Given the description of an element on the screen output the (x, y) to click on. 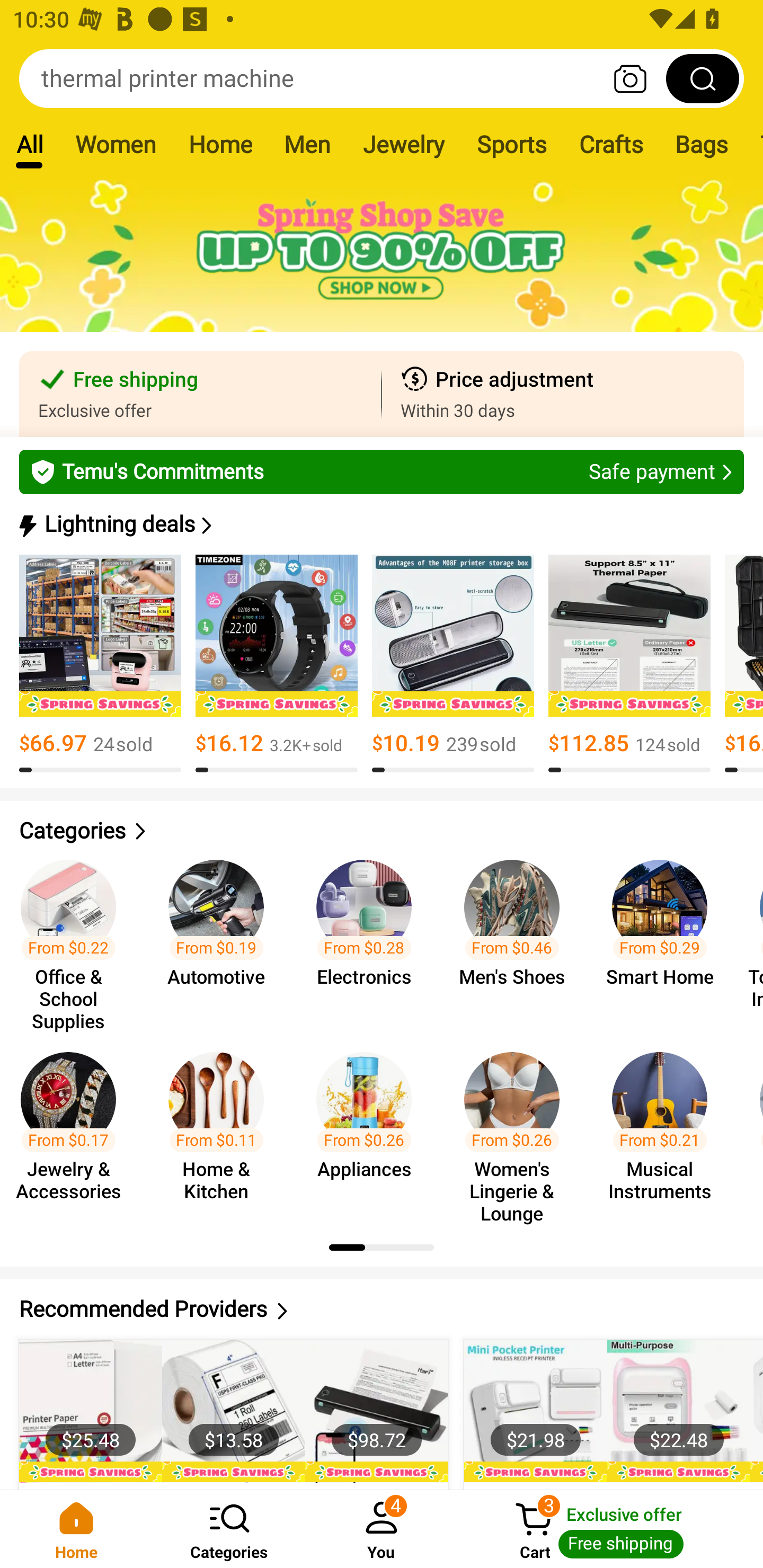
thermal printer machine (381, 78)
All (29, 144)
Women (115, 144)
Home (219, 144)
Men (306, 144)
Jewelry (403, 144)
Sports (511, 144)
Crafts (611, 144)
Bags (701, 144)
Free shipping Exclusive offer (200, 394)
Price adjustment Within 30 days (562, 394)
Temu's Commitments (381, 471)
Lightning deals (379, 524)
$66.97 24￼sold 8.0 (100, 664)
$16.12 3.2K+￼sold 8.0 (276, 664)
$10.19 239￼sold 8.0 (453, 664)
$112.85 124￼sold 8.0 (629, 664)
Categories (381, 830)
From $0.22 Office & School Supplies (74, 936)
From $0.19 Automotive (222, 936)
From $0.28 Electronics (369, 936)
From $0.46 Men's Shoes (517, 936)
From $0.29 Smart Home (665, 936)
From $0.17 Jewelry & Accessories (74, 1128)
From $0.11 Home & Kitchen (222, 1128)
From $0.26 Appliances (369, 1128)
From $0.26 Women's Lingerie & Lounge (517, 1128)
From $0.21 Musical Instruments (665, 1128)
Recommended Providers (381, 1309)
Home (76, 1528)
Categories (228, 1528)
You 4 You (381, 1528)
Cart 3 Cart Exclusive offer (610, 1528)
